Given the description of an element on the screen output the (x, y) to click on. 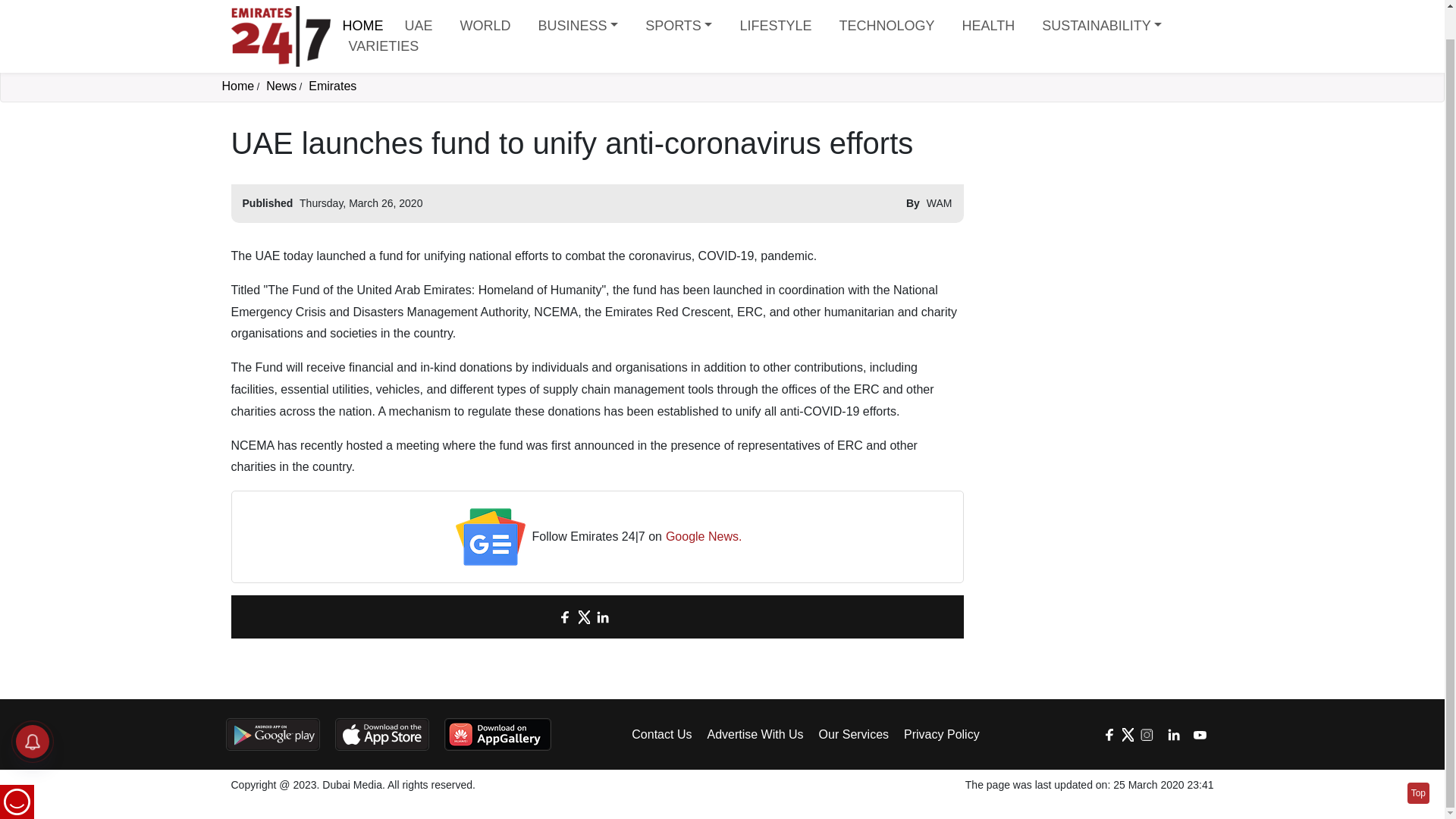
News (281, 85)
VARIETIES (383, 44)
LIFESTYLE (774, 23)
UAE (418, 23)
TECHNOLOGY (886, 23)
Google News. (703, 536)
Go to top (1418, 762)
Home (237, 85)
SUSTAINABILITY (1101, 23)
Emirates (332, 85)
SPORTS (678, 23)
HOME (363, 23)
HEALTH (987, 23)
3rd party ad content (1097, 219)
Home (363, 23)
